Given the description of an element on the screen output the (x, y) to click on. 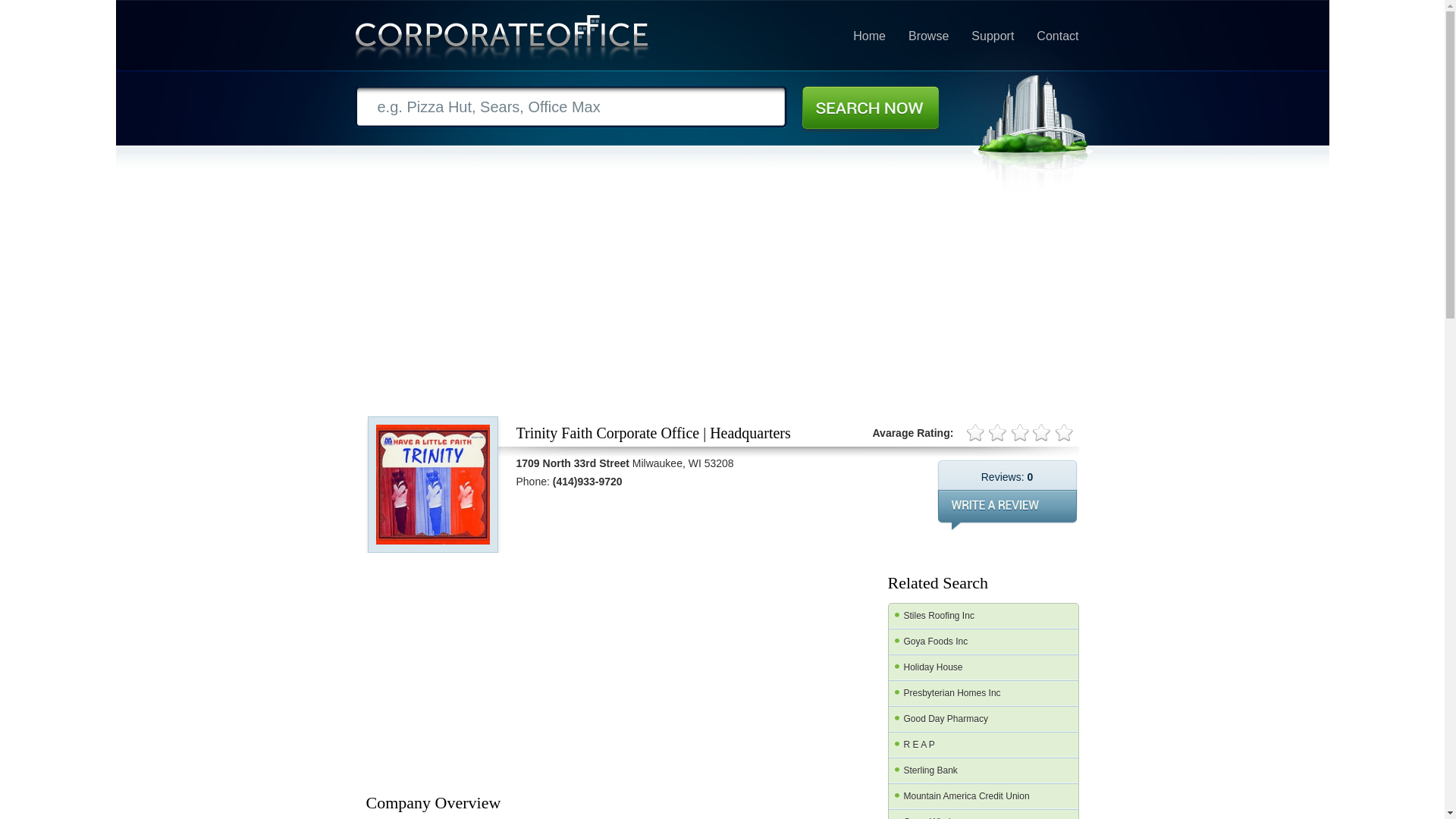
Home (868, 36)
Browse (927, 36)
Cross Wireless (983, 814)
Advertisement (724, 669)
WRITE REVIEW (1007, 509)
Presbyterian Homes Inc (983, 692)
e.g. Pizza Hut, Sears, Office Max (571, 106)
Mountain America Credit Union (983, 796)
Corporate Office (502, 40)
Advertisement (478, 669)
Good Day Pharmacy (983, 719)
Contact (1057, 36)
Stiles Roofing Inc (983, 615)
Support (992, 36)
